Given the description of an element on the screen output the (x, y) to click on. 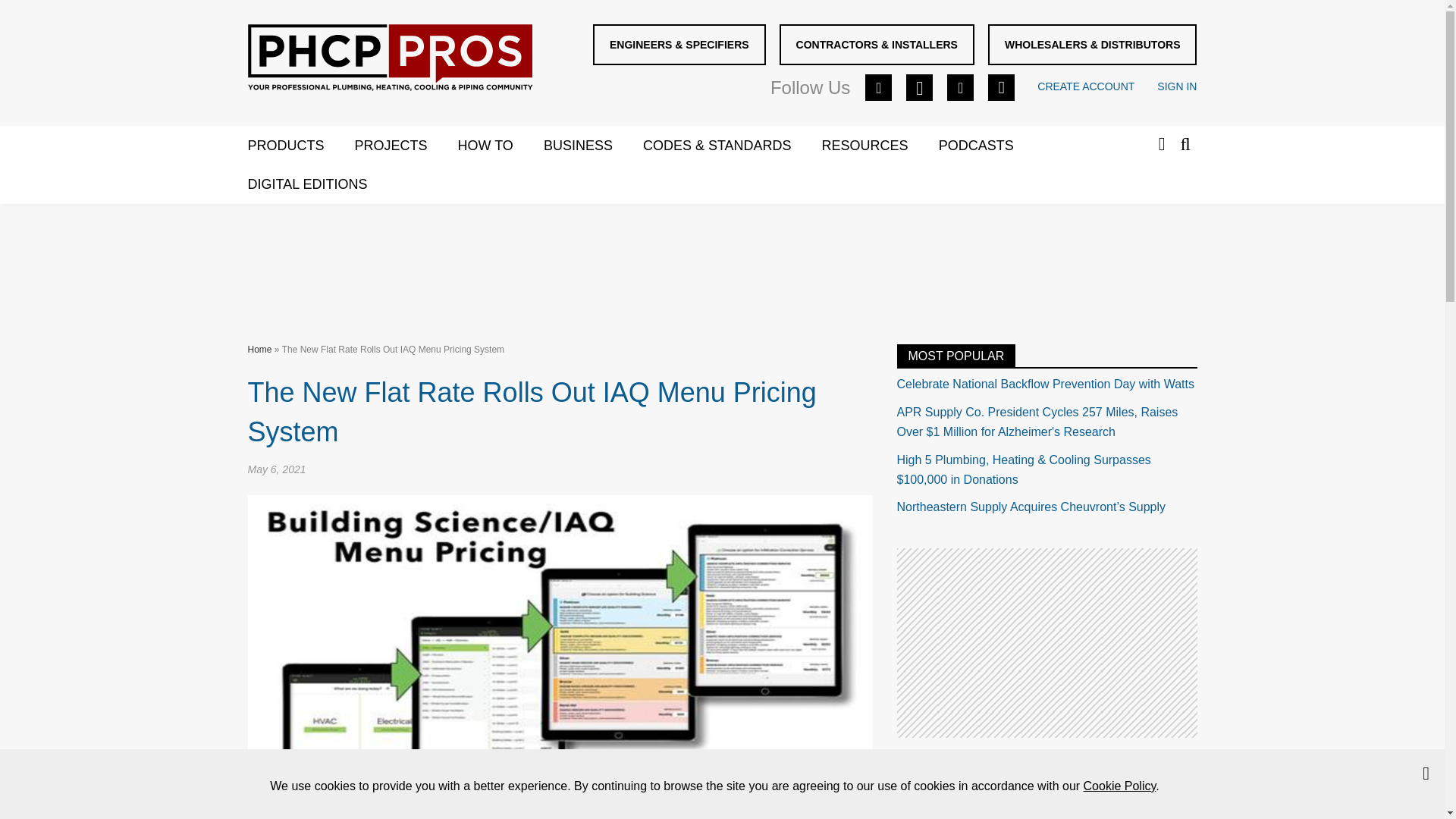
logo (389, 57)
3rd party ad content (1046, 642)
3rd party ad content (721, 260)
